Given the description of an element on the screen output the (x, y) to click on. 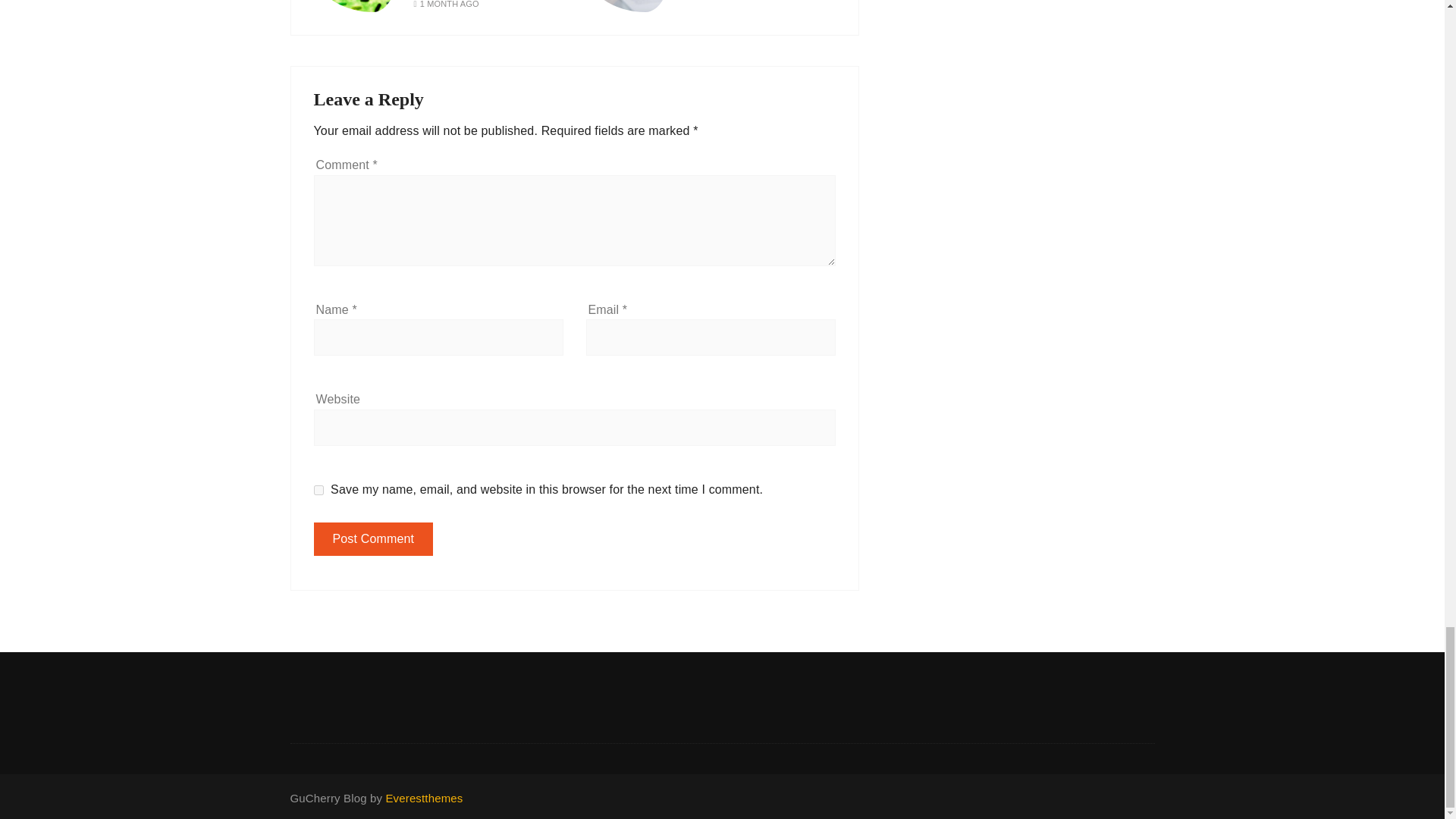
Post Comment (373, 539)
yes (318, 490)
Post Comment (373, 539)
Everestthemes (424, 797)
